Given the description of an element on the screen output the (x, y) to click on. 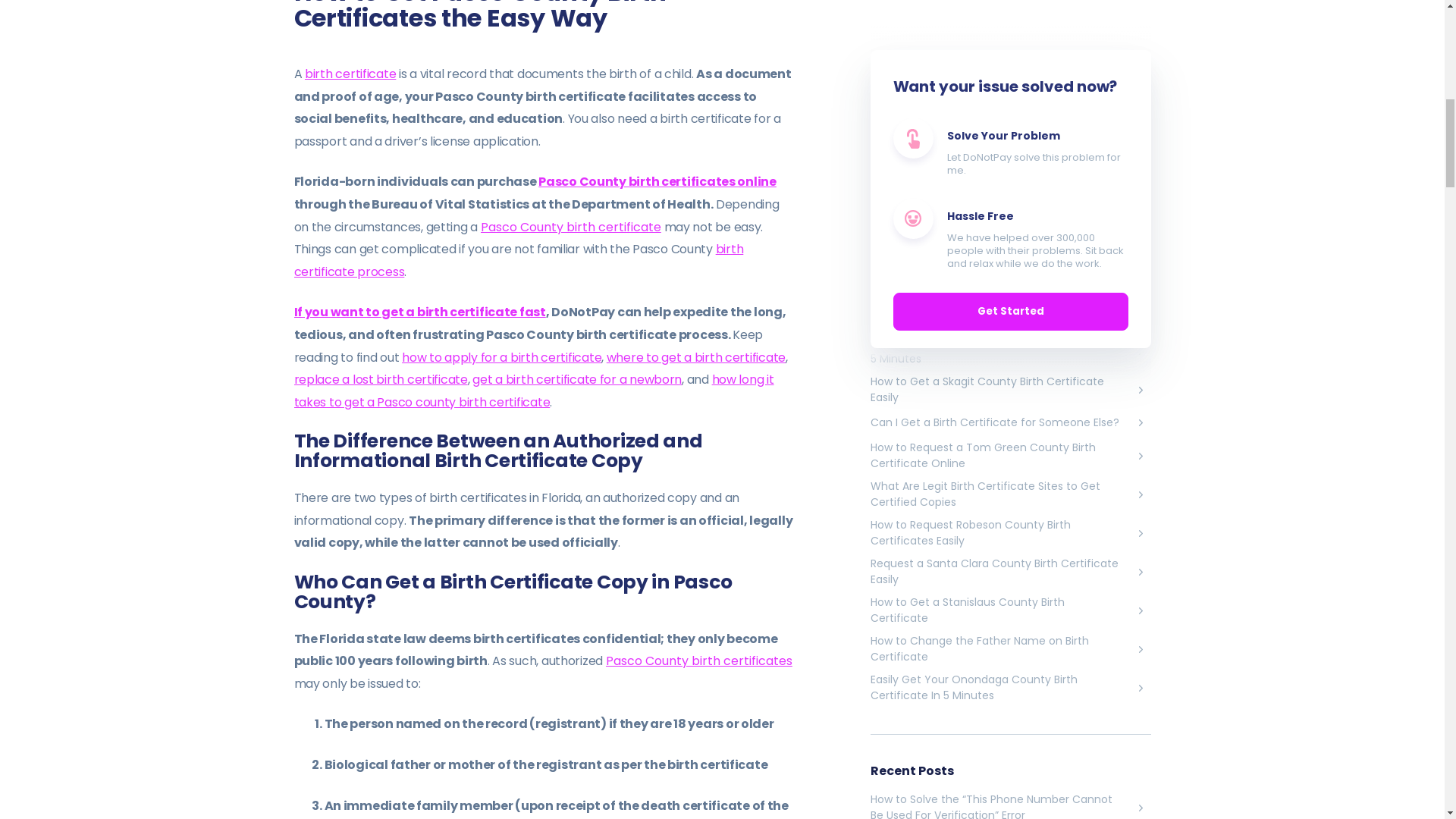
If you want to get a birth certificate fast (420, 312)
birth certificate (350, 73)
how long it takes to get a Pasco county birth certificate (534, 391)
how to apply for a birth certificate (501, 357)
Pasco County birth certificates online (657, 181)
replace a lost birth certificate (380, 379)
where to get a birth certificate (696, 357)
birth certificate process (519, 260)
get a birth certificate for a newborn (576, 379)
Pasco County birth certificate (570, 226)
